Given the description of an element on the screen output the (x, y) to click on. 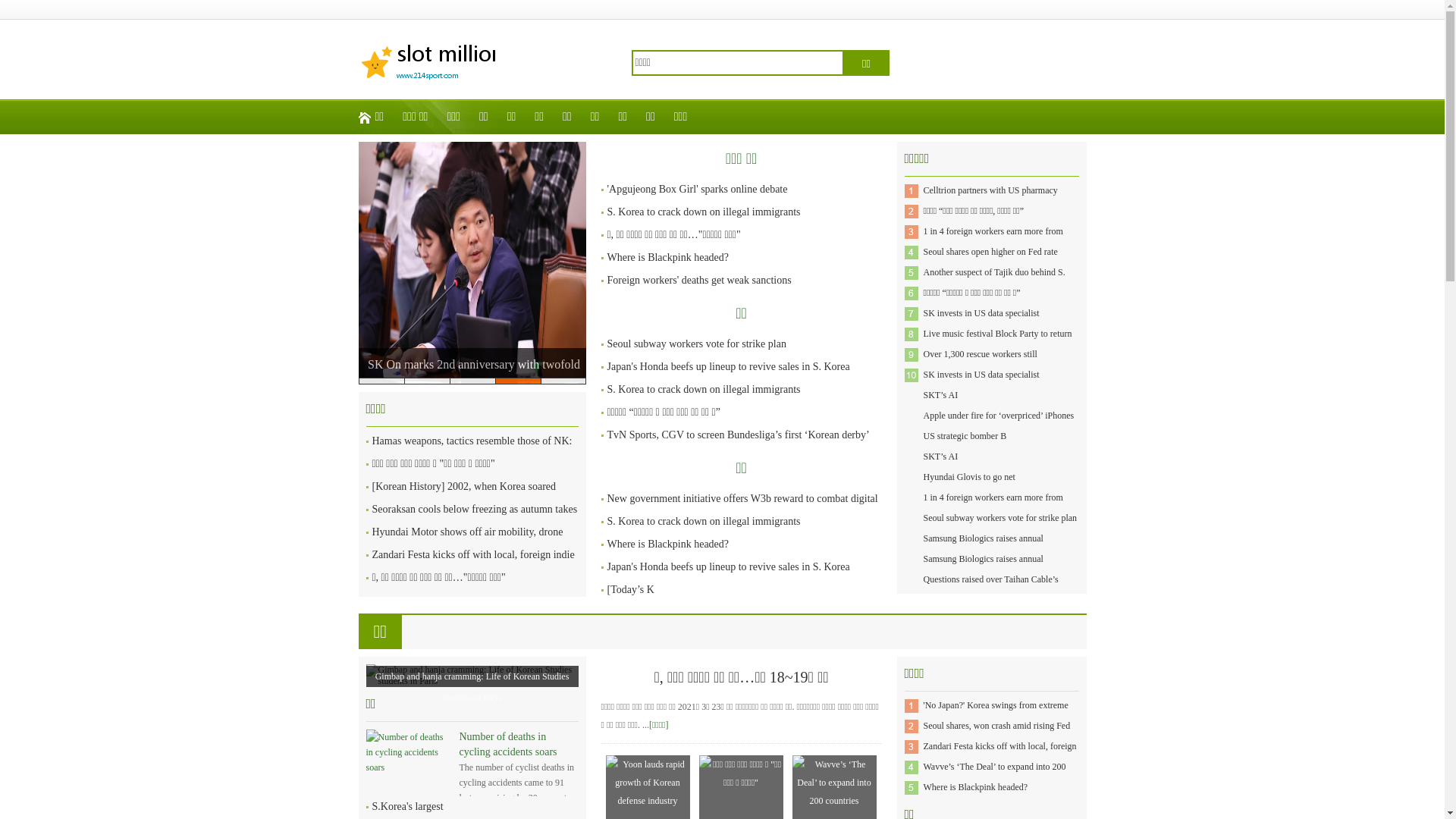
Japan's Honda beefs up lineup to revive sales in S. Korea Element type: text (727, 366)
Where is Blackpink headed? Element type: text (975, 786)
Zandari Festa kicks off with local, foreign indie bands Element type: text (999, 755)
S. Korea to crack down on illegal immigrants Element type: text (703, 389)
[Korean History] 2002, when Korea soared through World Cup Element type: text (463, 496)
SK invests in US data specialist Glassdome Element type: text (981, 384)
S.Korea's largest Element type: text (406, 806)
Seoul subway workers vote for strike plan Element type: text (1000, 517)
Number of deaths in cycling accidents soars Element type: text (508, 744)
Japan's Honda beefs up lineup to revive sales in S. Korea Element type: text (727, 566)
SK invests in US data specialist Glassdome Element type: text (981, 322)
Samsung Biologics raises annual estimated earnings to W3.6t Element type: text (983, 548)
Celltrion partners with US pharmacy chain for Yuflyma sales Element type: text (990, 200)
Seoraksan cools below freezing as autumn takes hold Element type: text (474, 519)
Seoul subway workers vote for strike plan Element type: text (695, 343)
S. Korea to crack down on illegal immigrants Element type: text (703, 211)
Hyundai Glovis to go net Element type: text (969, 476)
Hamas weapons, tactics resemble those of NK: JCS Element type: text (471, 451)
Zandari Festa kicks off with local, foreign indie bands Element type: text (472, 565)
Seoul shares open higher on Fed rate pause hopes Element type: text (990, 261)
S. Korea to crack down on illegal immigrants Element type: text (703, 521)
US strategic bomber B Element type: text (965, 435)
'Apgujeong Box Girl' sparks online debate Element type: text (696, 188)
Samsung Biologics raises annual estimated earnings to W3.6t Element type: text (473, 157)
Where is Blackpink headed? Element type: text (667, 257)
Seoul shares, won crash amid rising Fed woes Element type: text (996, 735)
Foreign workers' deaths get weak sanctions Element type: text (698, 279)
Where is Blackpink headed? Element type: text (667, 543)
Live music festival Block Party to return to Haebangchon Element type: text (997, 343)
Samsung Biologics raises annual estimated earnings to W3.6t Element type: text (983, 568)
